Given the description of an element on the screen output the (x, y) to click on. 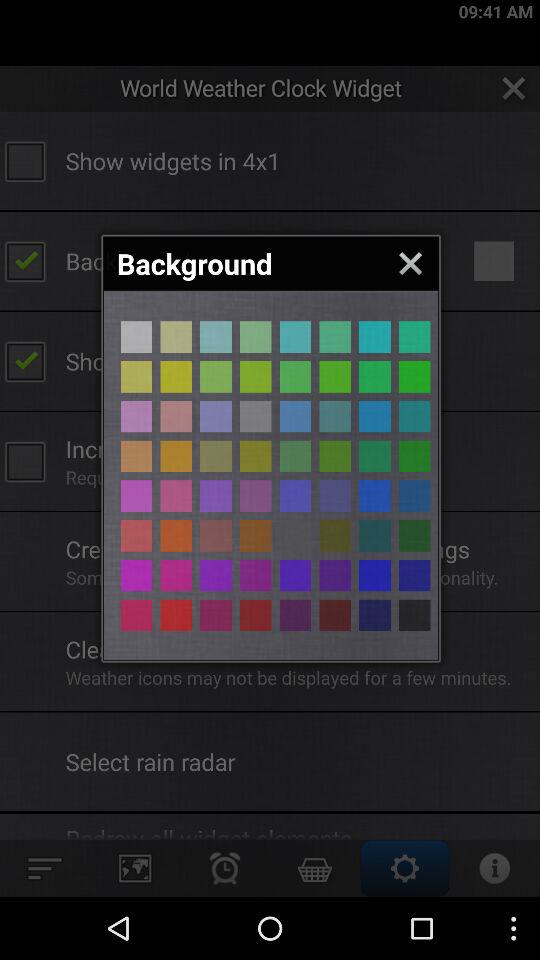
choose app background color (295, 615)
